Given the description of an element on the screen output the (x, y) to click on. 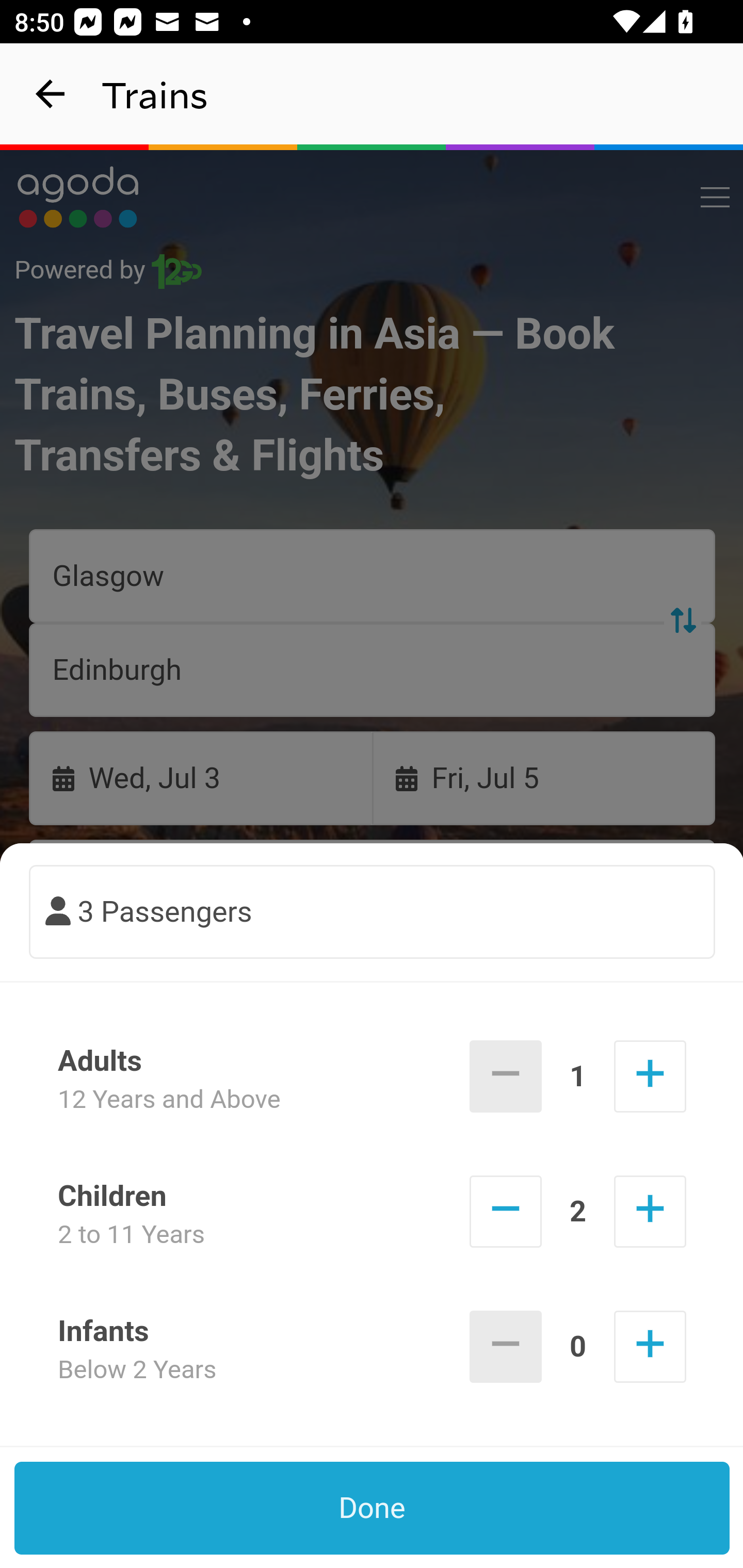
Find Tickets (372, 992)
Done (372, 1508)
